Given the description of an element on the screen output the (x, y) to click on. 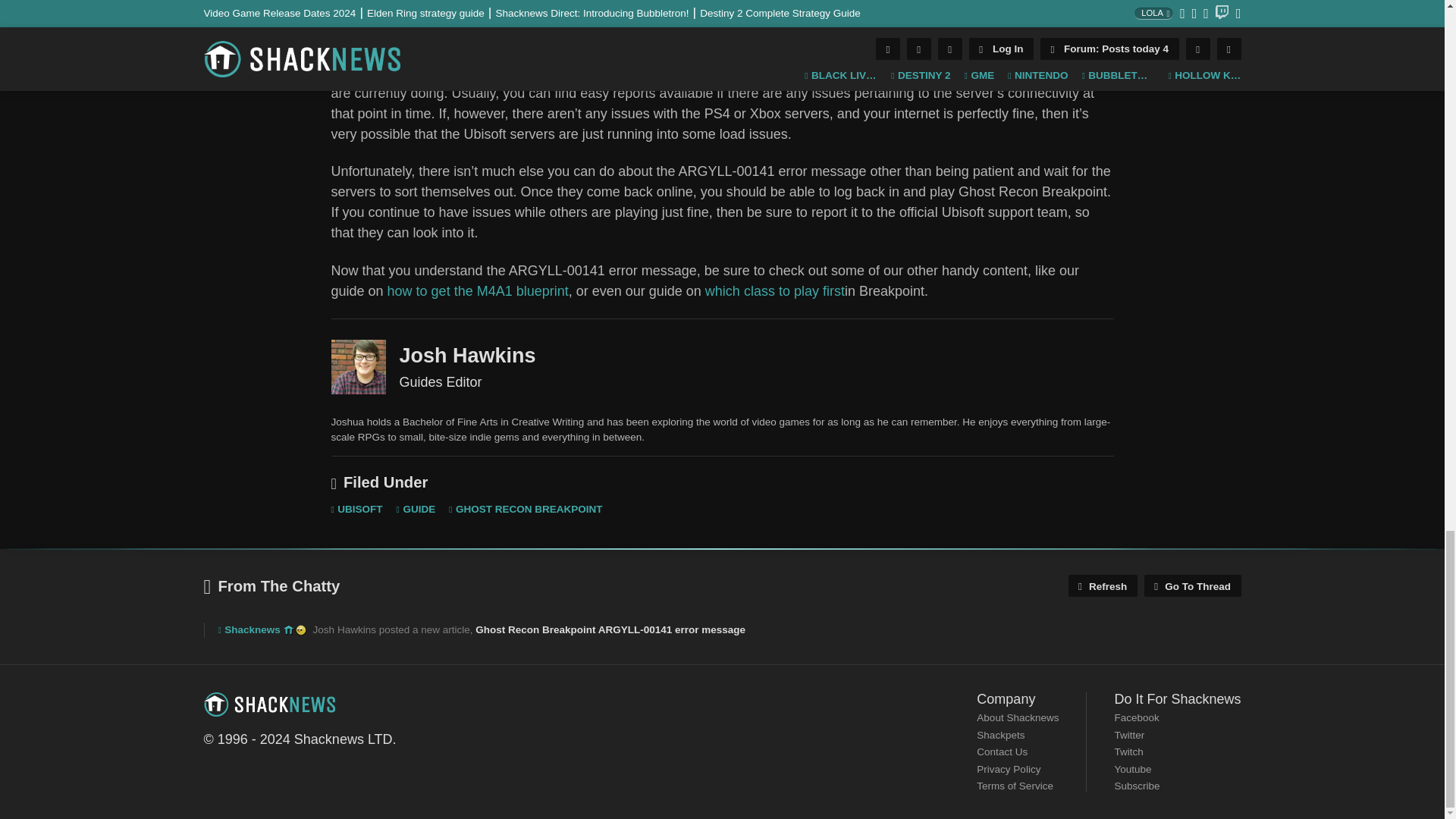
legacy 20 years (300, 629)
legacy 10 years (288, 629)
Ghost Recon Breakpoint - what is error argyll-00141? (722, 12)
Guides Editor (357, 366)
